Given the description of an element on the screen output the (x, y) to click on. 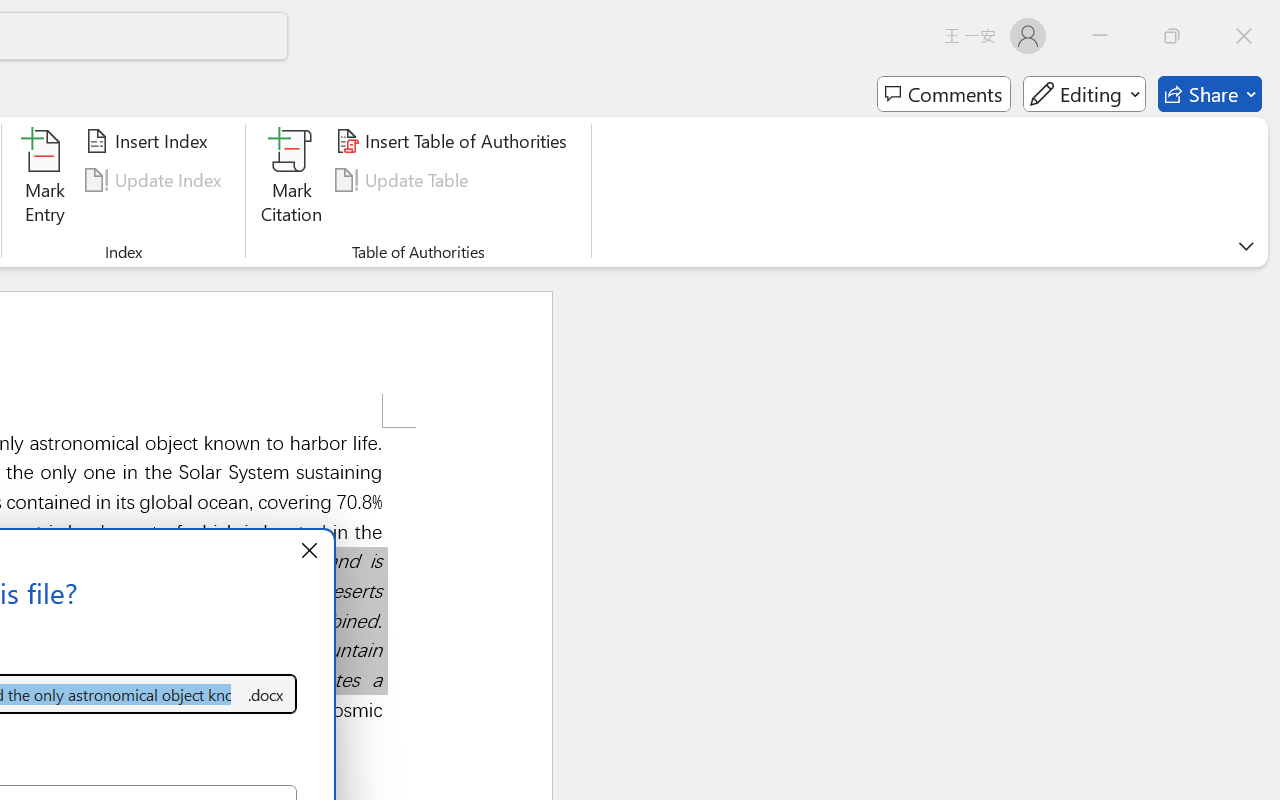
Mark Citation... (292, 179)
